Given the description of an element on the screen output the (x, y) to click on. 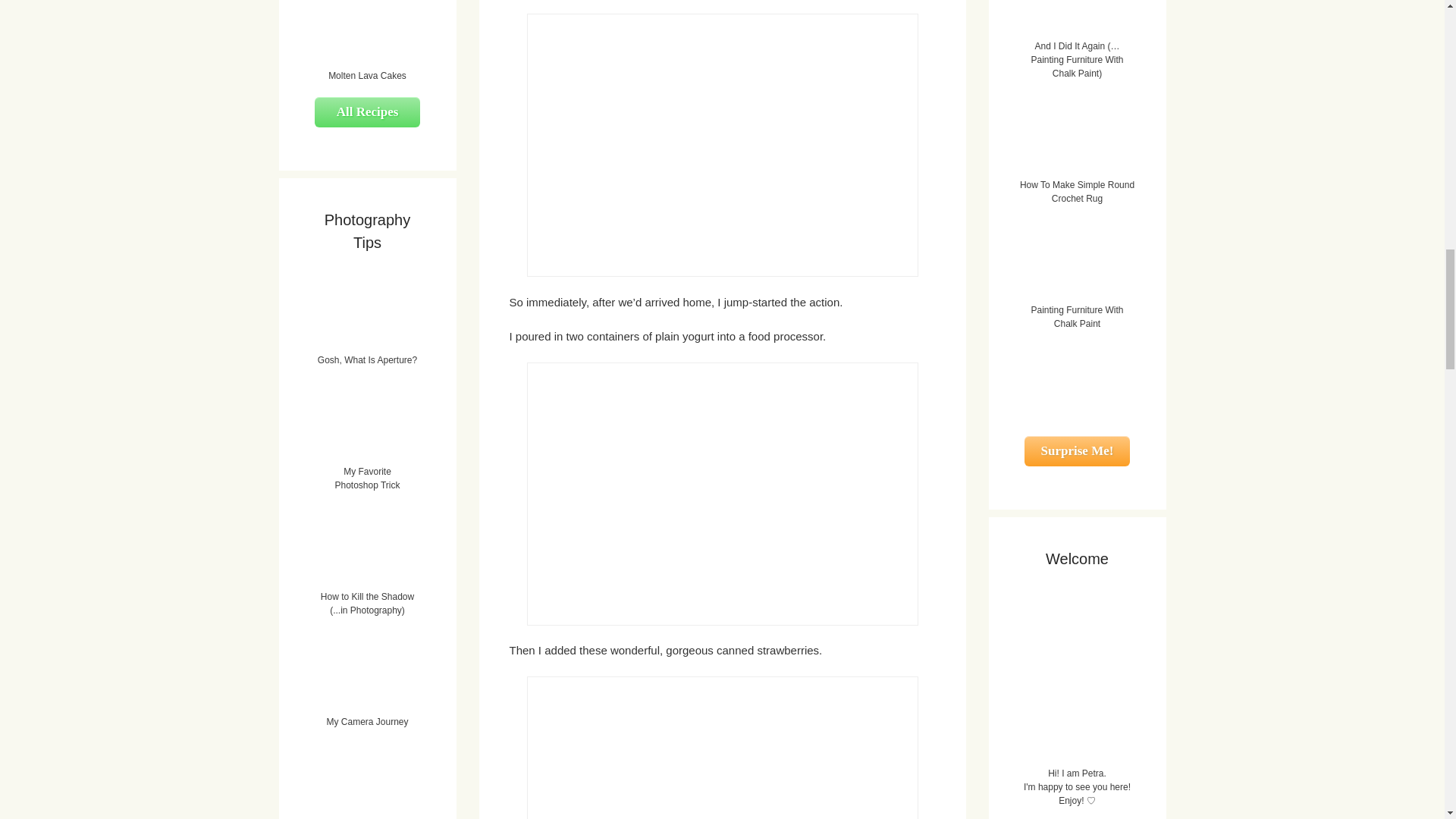
homemade-popsicle (721, 747)
frozen-yogurt (721, 144)
homemade-forzen-yogurt (721, 493)
